Given the description of an element on the screen output the (x, y) to click on. 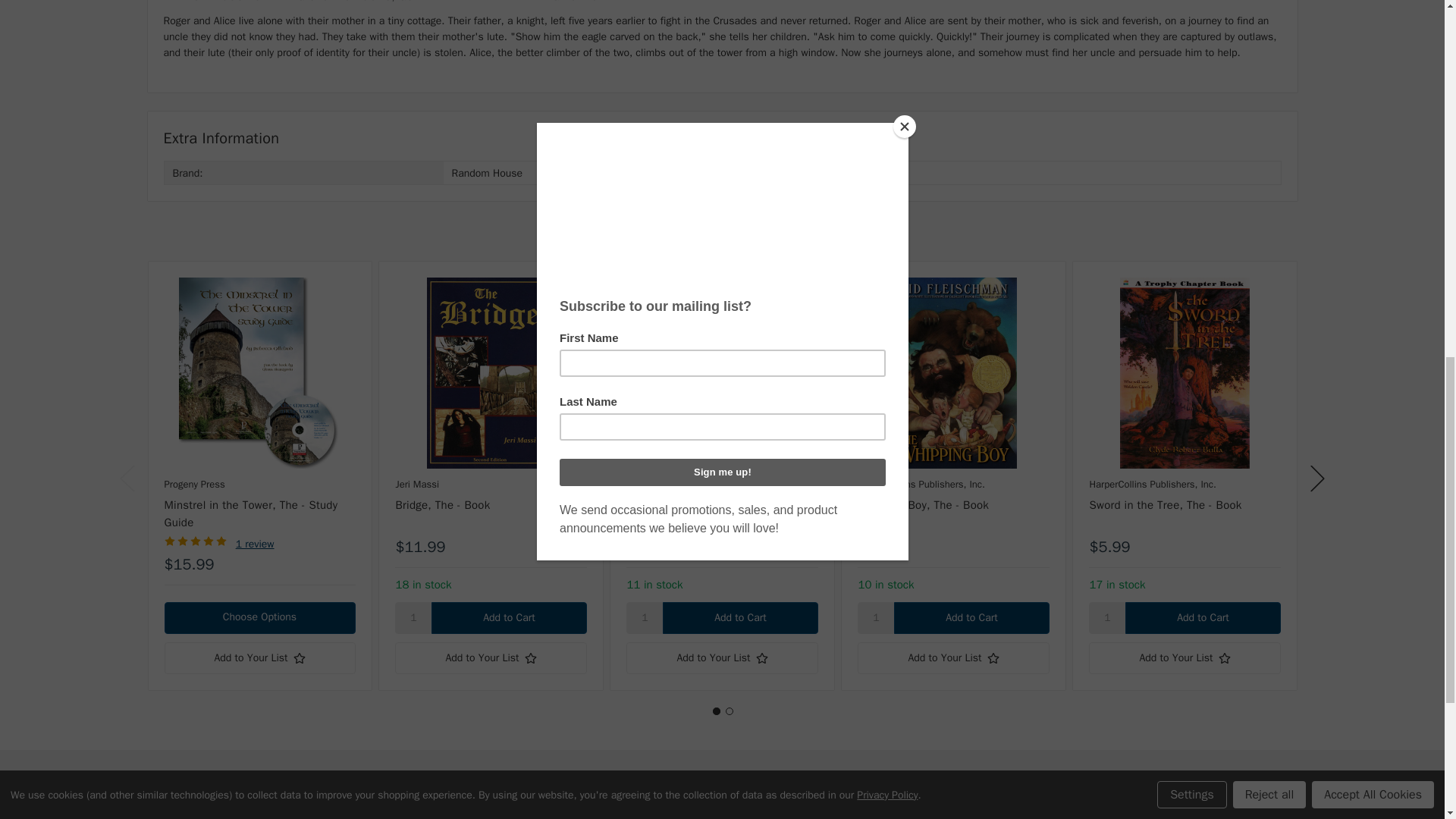
Add to Your List (721, 658)
Add to Cart (739, 617)
The Two Collars literature story book (721, 372)
1 (875, 617)
Add to Your List (259, 658)
Add to Cart (970, 617)
1 (1107, 617)
Add to Your List (490, 658)
Add to Your List (952, 658)
The Bridge literature story books (490, 372)
Add to Cart (1202, 617)
1 (644, 617)
